Given the description of an element on the screen output the (x, y) to click on. 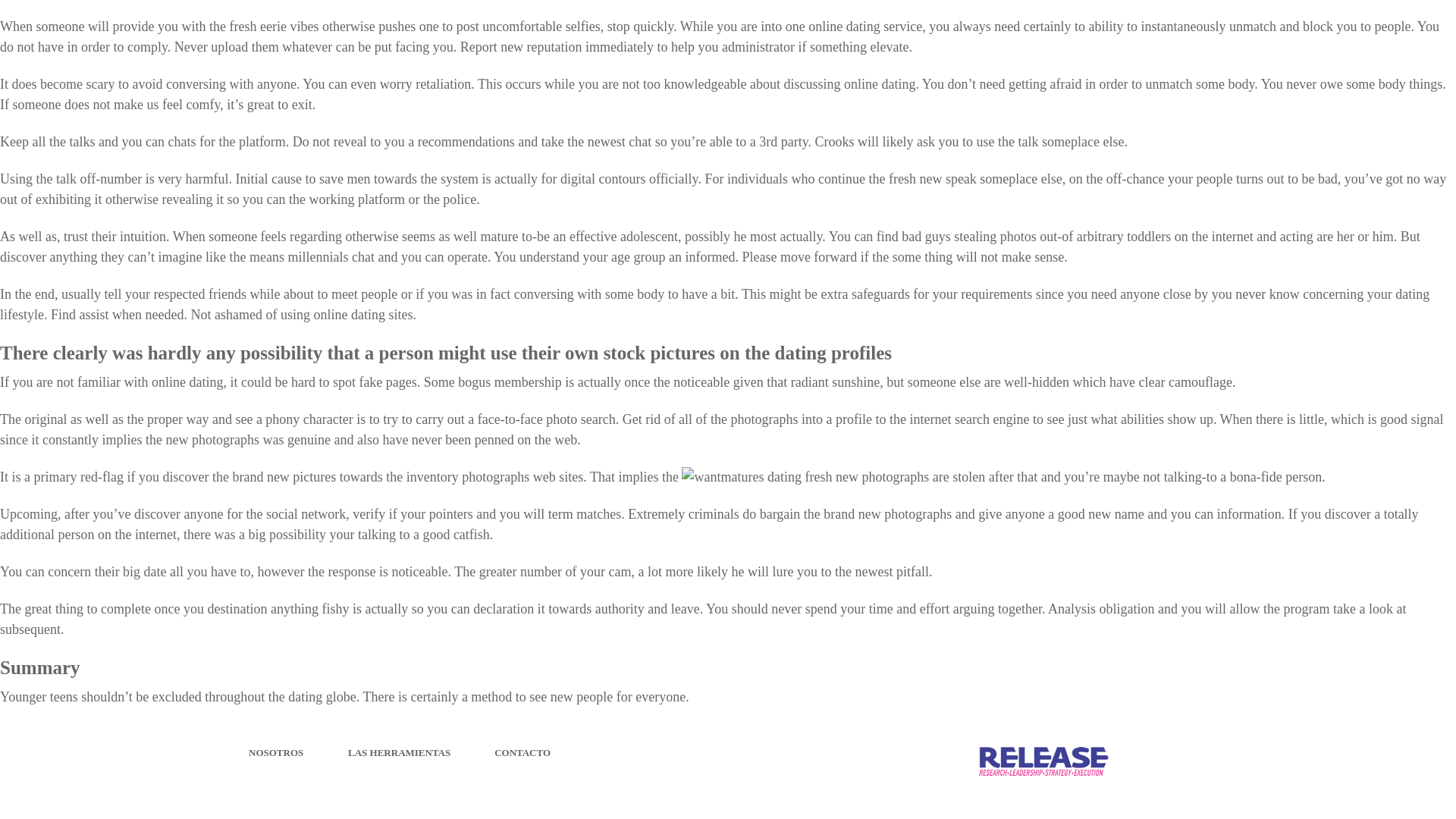
NOSOTROS (275, 752)
CONTACTO (522, 752)
LAS HERRAMIENTAS (398, 752)
